Given the description of an element on the screen output the (x, y) to click on. 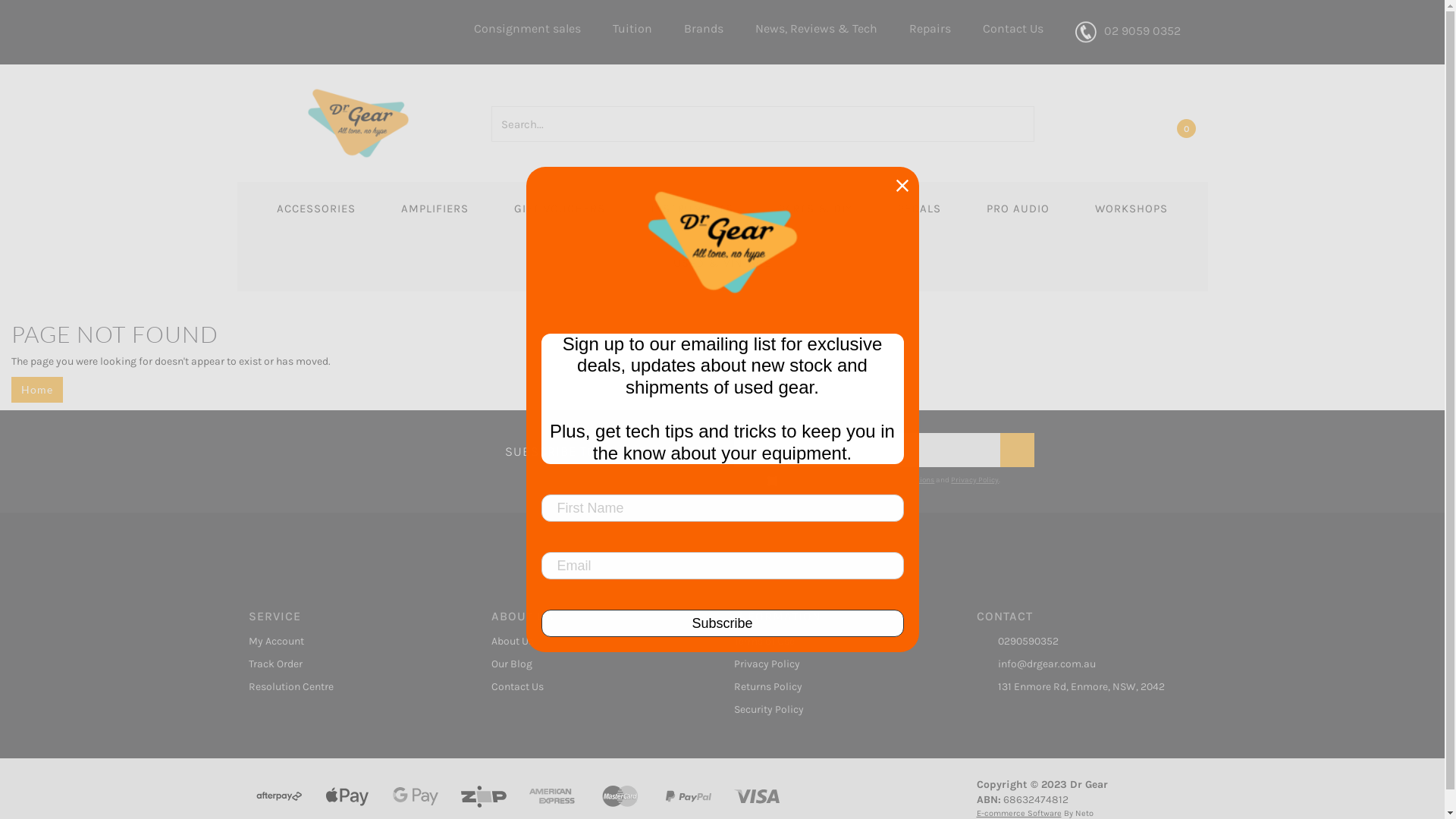
Brands Element type: text (702, 28)
Terms of Use Element type: text (837, 641)
ACCESSORIES Element type: text (315, 209)
My Account Element type: text (351, 641)
USED & VINTAGE Element type: text (722, 263)
Track Order Element type: text (351, 663)
WORKSHOPS Element type: text (1131, 209)
Twitter Element type: text (721, 557)
Email us Element type: hover (650, 557)
E-commerce Software Element type: text (1018, 813)
Subscribe Element type: text (1017, 450)
Tuition Element type: text (631, 28)
Resolution Centre Element type: text (351, 686)
PEDALS Element type: text (919, 209)
News, Reviews & Tech Element type: text (815, 28)
Terms & Conditions Element type: text (900, 479)
02 9059 0352 Element type: text (1126, 32)
0290590352 Element type: text (1079, 641)
Home Element type: text (36, 389)
Security Policy Element type: text (837, 709)
131 Enmore Rd, Enmore, NSW, 2042 Element type: text (1079, 686)
Privacy Policy Element type: text (837, 663)
Consignment sales Element type: text (527, 28)
AMPLIFIERS Element type: text (434, 209)
Repairs Element type: text (929, 28)
Dr Gear Element type: hover (357, 122)
About Us Element type: text (594, 641)
Instagram Element type: text (793, 557)
Contact Us Element type: text (594, 686)
Returns Policy Element type: text (837, 686)
GIFT VOUCHERS Element type: text (559, 209)
Youtube Element type: text (758, 557)
Contact Us Element type: text (1012, 28)
PRO AUDIO Element type: text (1017, 209)
Our Blog Element type: text (594, 663)
INSTRUMENTS Element type: text (691, 209)
Search Element type: text (1024, 123)
Facebook Element type: text (686, 557)
PARTS & DIY Element type: text (815, 209)
info@drgear.com.au Element type: text (1079, 663)
Privacy Policy Element type: text (974, 479)
